Given the description of an element on the screen output the (x, y) to click on. 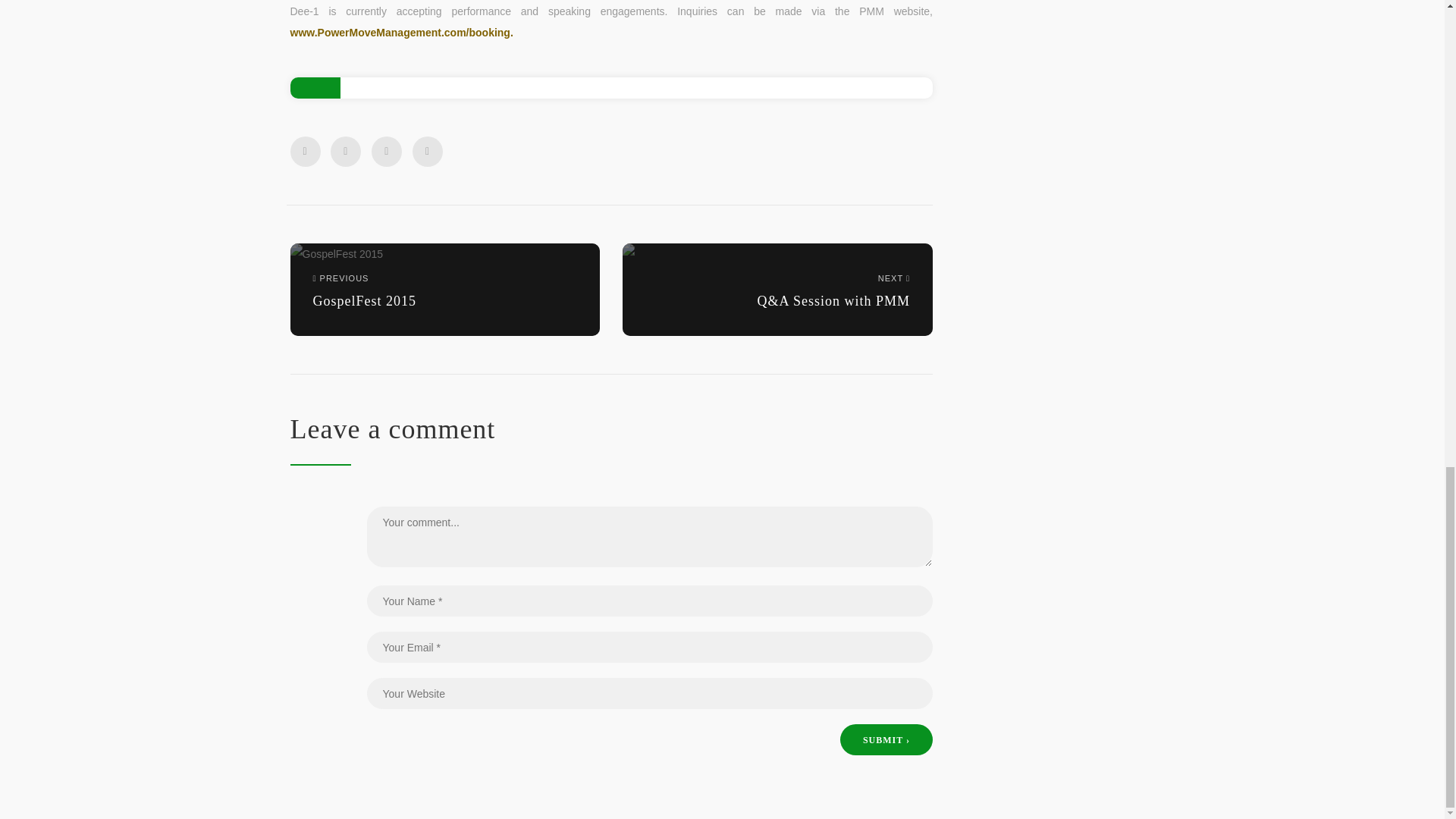
Share on Twitter (345, 151)
Share on Facebook (304, 151)
Email this (427, 151)
Share on Google Plus (444, 288)
